Given the description of an element on the screen output the (x, y) to click on. 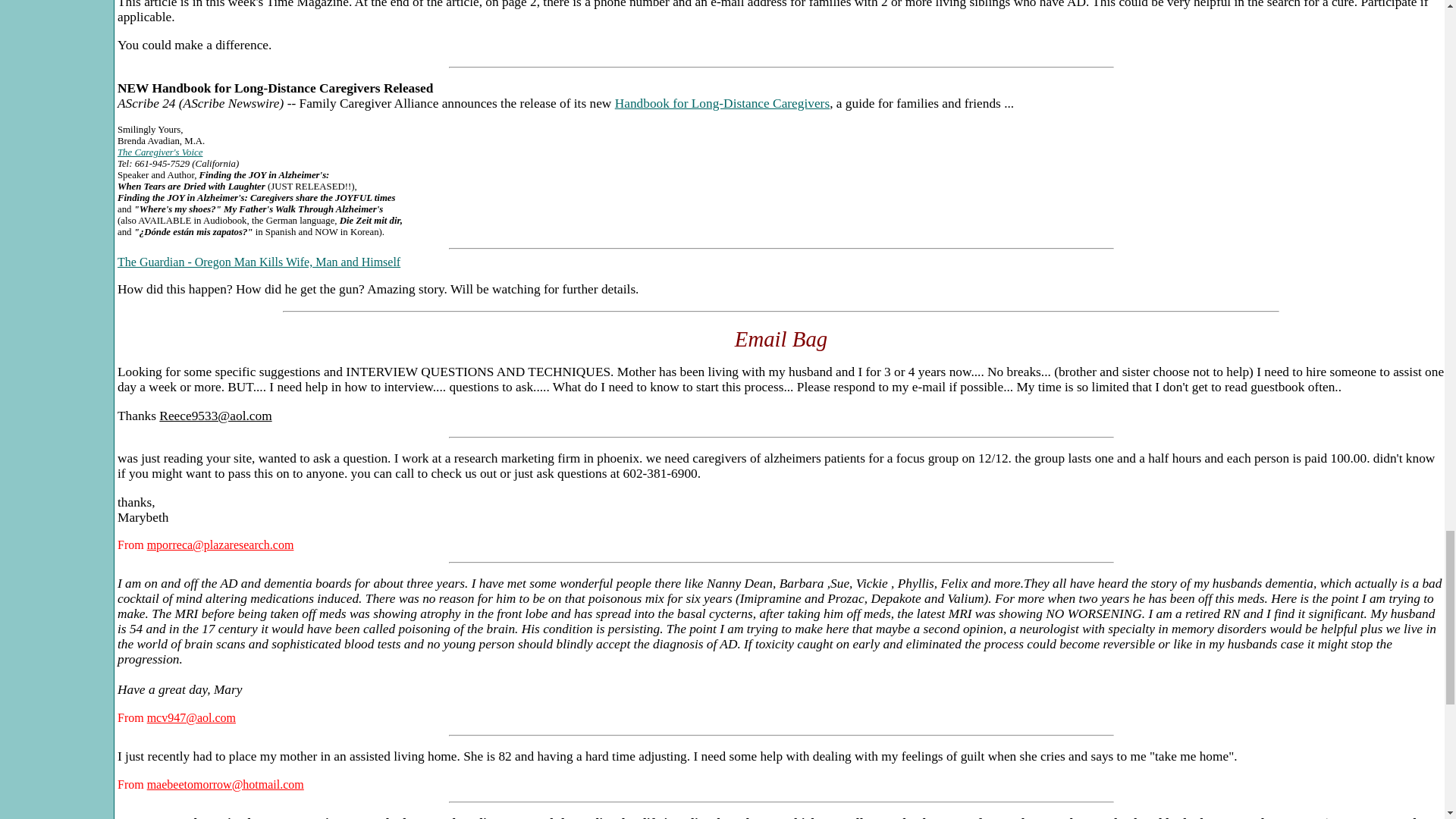
The Guardian - Oregon Man Kills Wife, Man and Himself (258, 261)
The Caregiver's Voice (159, 152)
Send Email to MaryBeth (220, 544)
Send Email to Mary (191, 717)
TheCaregiversVoice.com (159, 152)
Handbook for Long-Distance Caregivers (721, 103)
Send Email to Reece (214, 415)
